Given the description of an element on the screen output the (x, y) to click on. 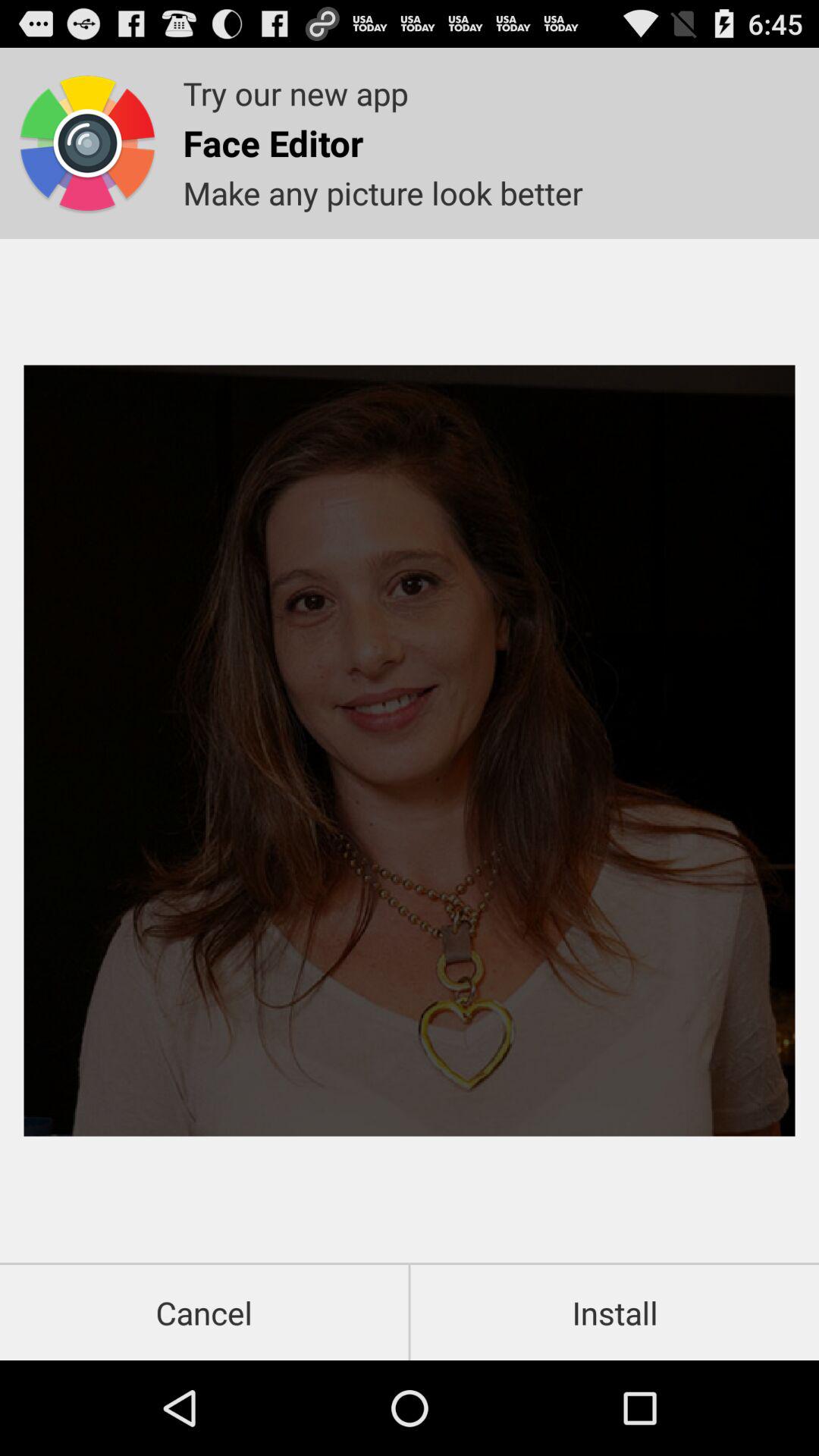
click cancel item (204, 1312)
